Given the description of an element on the screen output the (x, y) to click on. 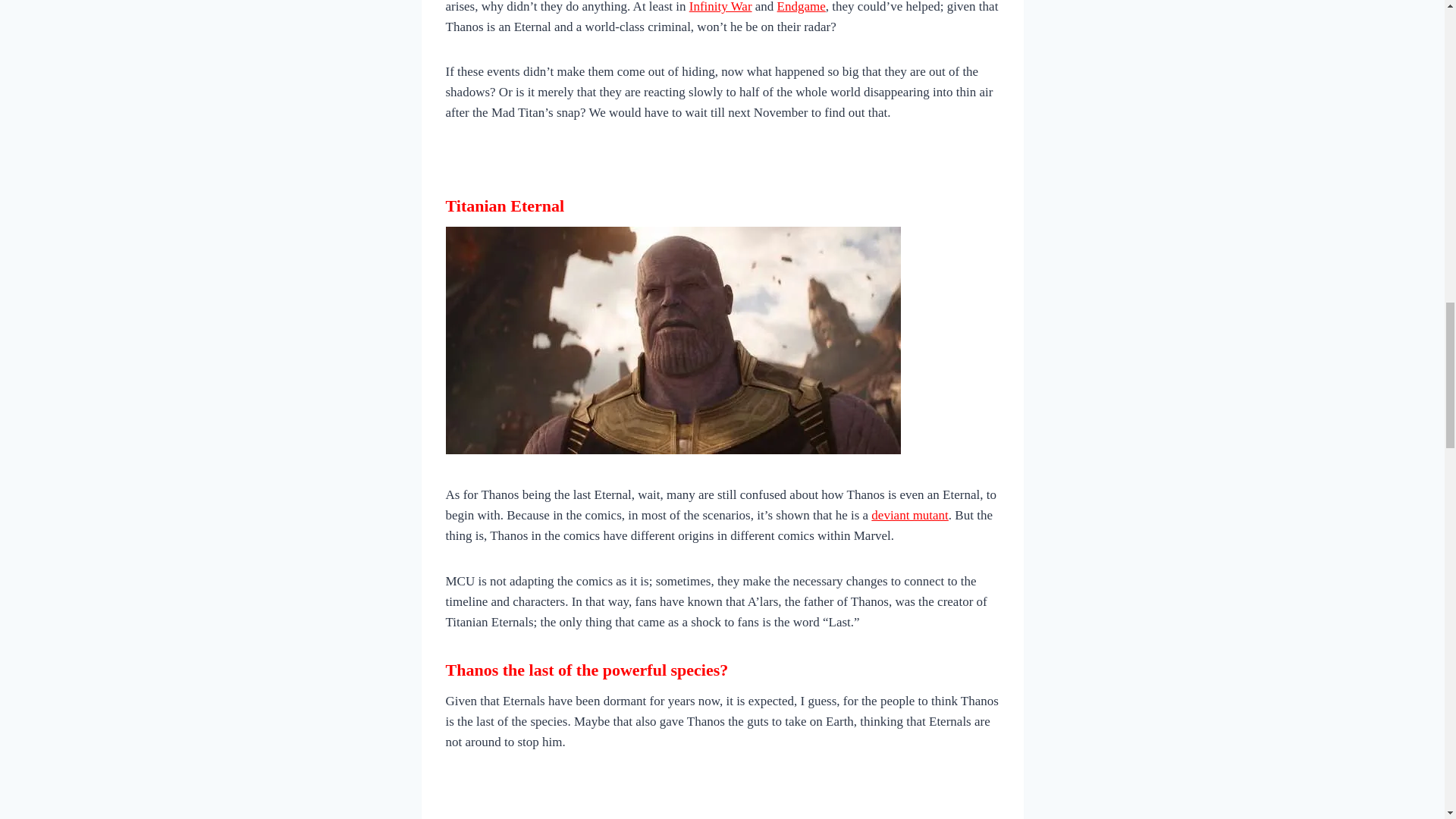
deviant mutant (909, 514)
Endgame (801, 6)
Advertisement (720, 798)
Infinity War (720, 6)
